Given the description of an element on the screen output the (x, y) to click on. 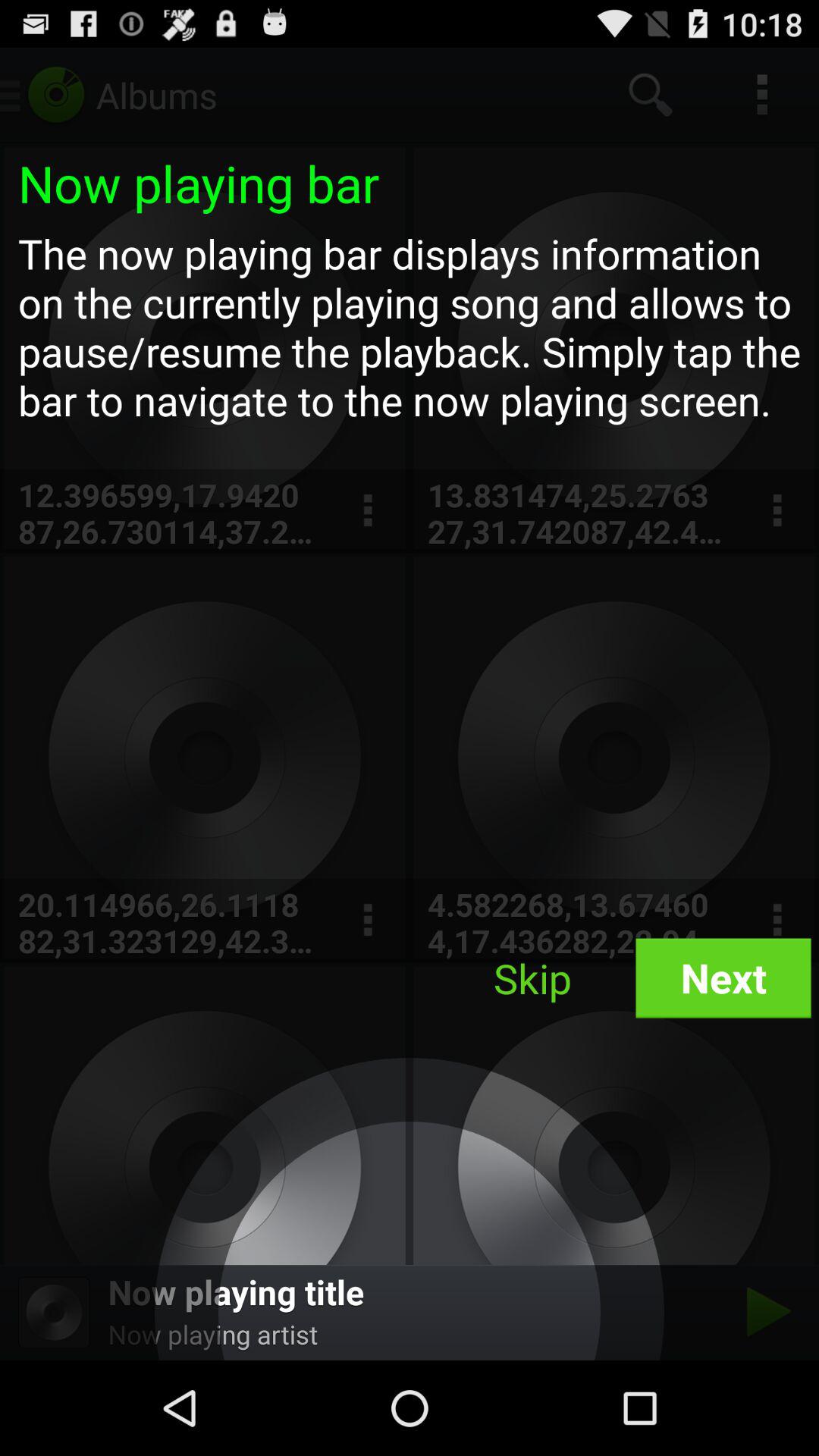
play song (764, 1312)
